Given the description of an element on the screen output the (x, y) to click on. 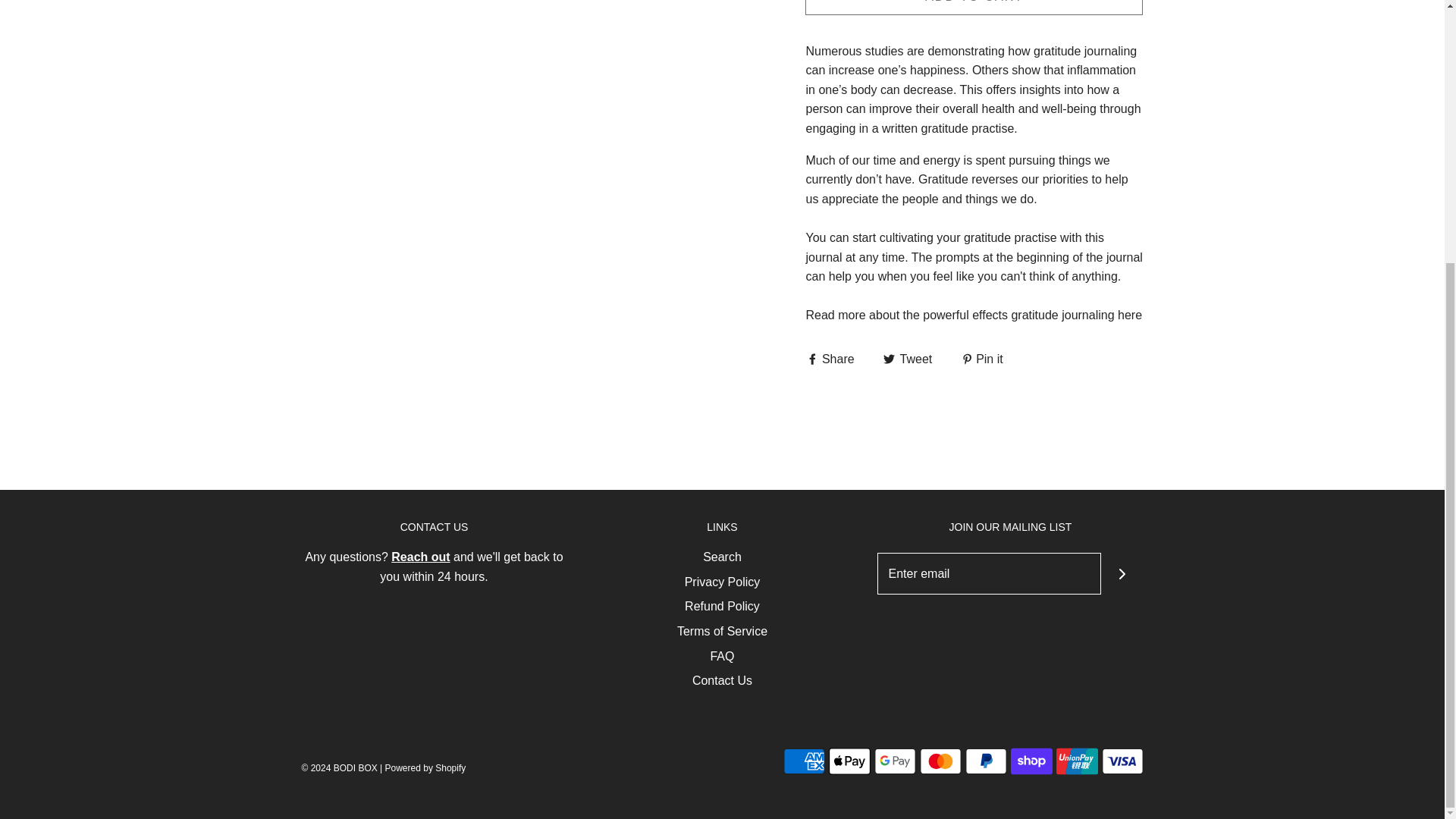
Union Pay (1076, 761)
Google Pay (894, 761)
PayPal (984, 761)
Shop Pay (1030, 761)
reach out with questions (420, 556)
Mastercard (939, 761)
Visa (1121, 761)
American Express (803, 761)
Apple Pay (848, 761)
